Given the description of an element on the screen output the (x, y) to click on. 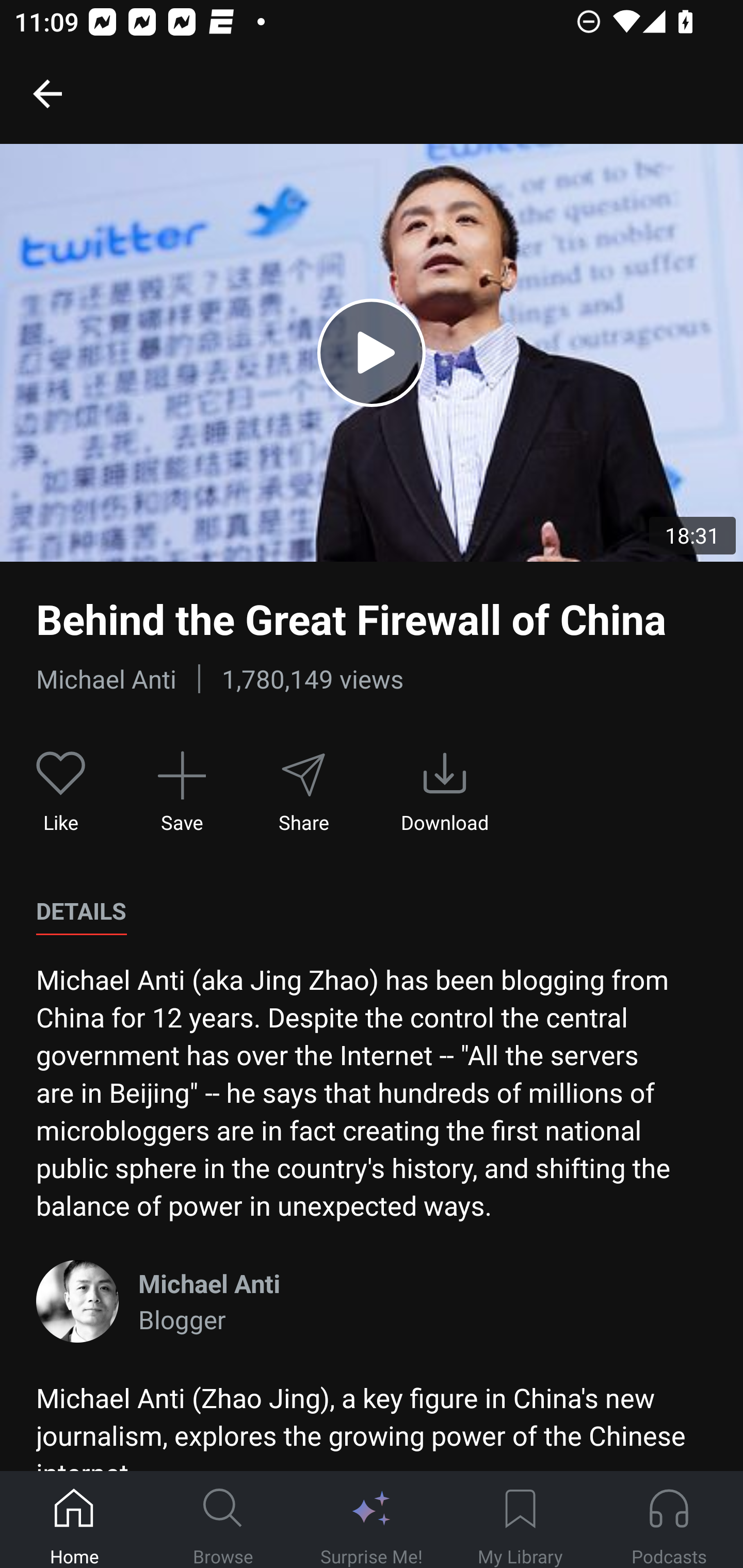
Go back (47, 92)
Like (60, 793)
Save (181, 793)
Share (302, 793)
Download (444, 793)
DETAILS (80, 911)
Home (74, 1520)
Browse (222, 1520)
Surprise Me! (371, 1520)
My Library (519, 1520)
Podcasts (668, 1520)
